Given the description of an element on the screen output the (x, y) to click on. 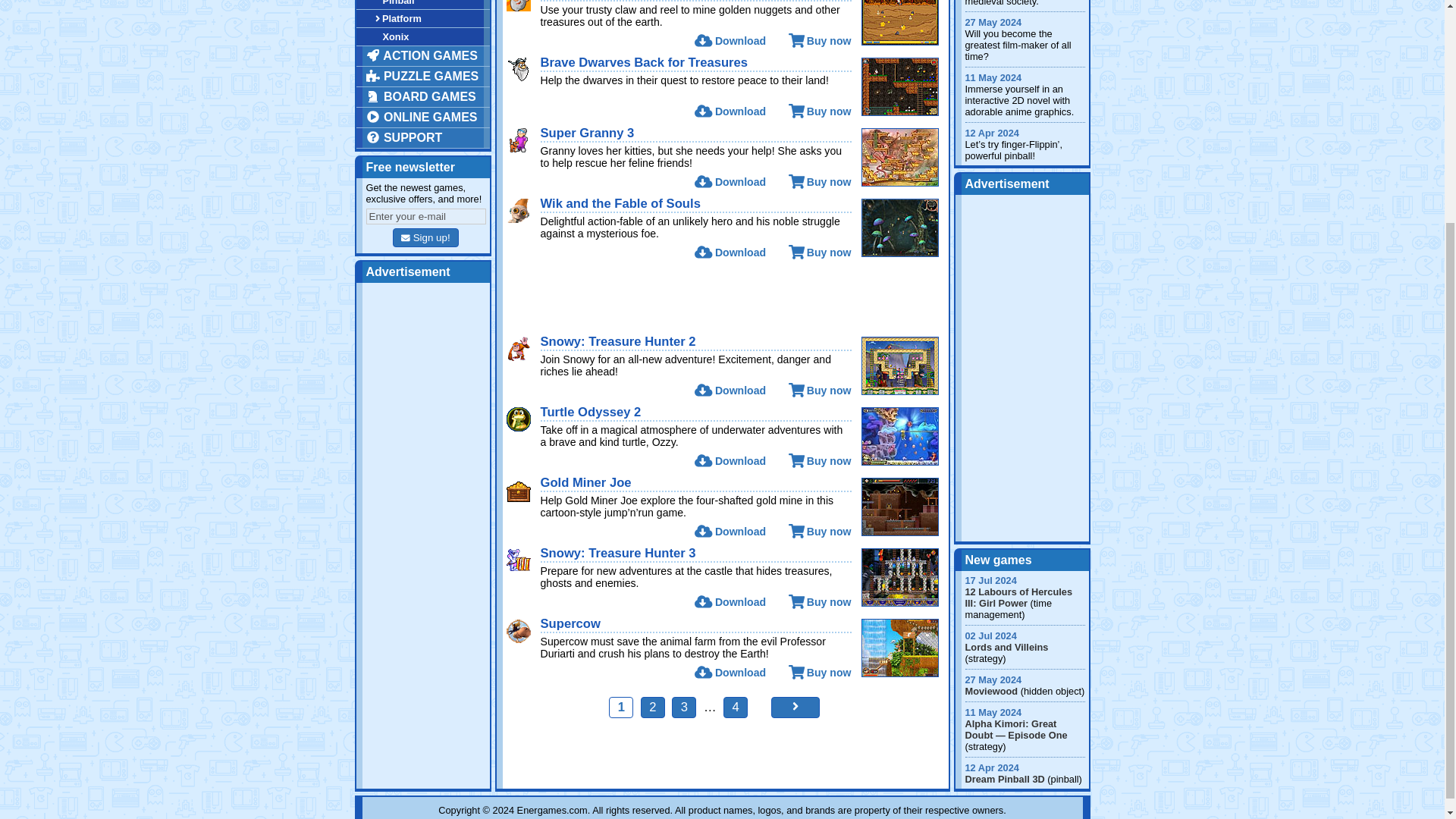
Download (729, 40)
Buy now (820, 111)
Buy now (820, 40)
Brave Dwarves Back for Treasures (644, 62)
Sign up! (425, 237)
Download (729, 111)
ACTION GAMES (422, 55)
ONLINE GAMES (422, 117)
Advertisement (722, 296)
Xonix (422, 36)
PUZZLE GAMES (422, 76)
Platform (422, 18)
BOARD GAMES (422, 96)
Buy now (820, 182)
Pinball (422, 4)
